Given the description of an element on the screen output the (x, y) to click on. 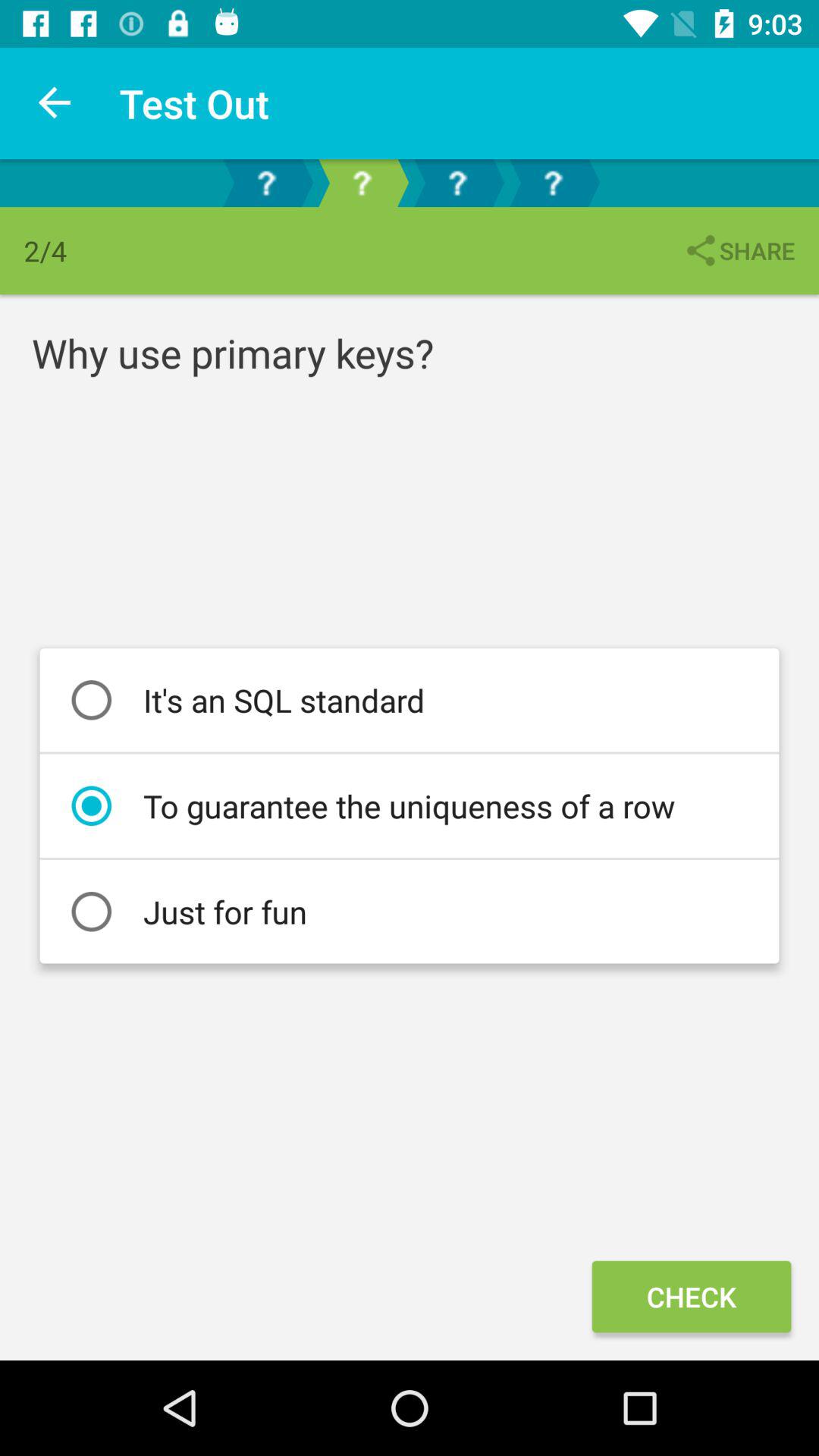
see the question (552, 183)
